Given the description of an element on the screen output the (x, y) to click on. 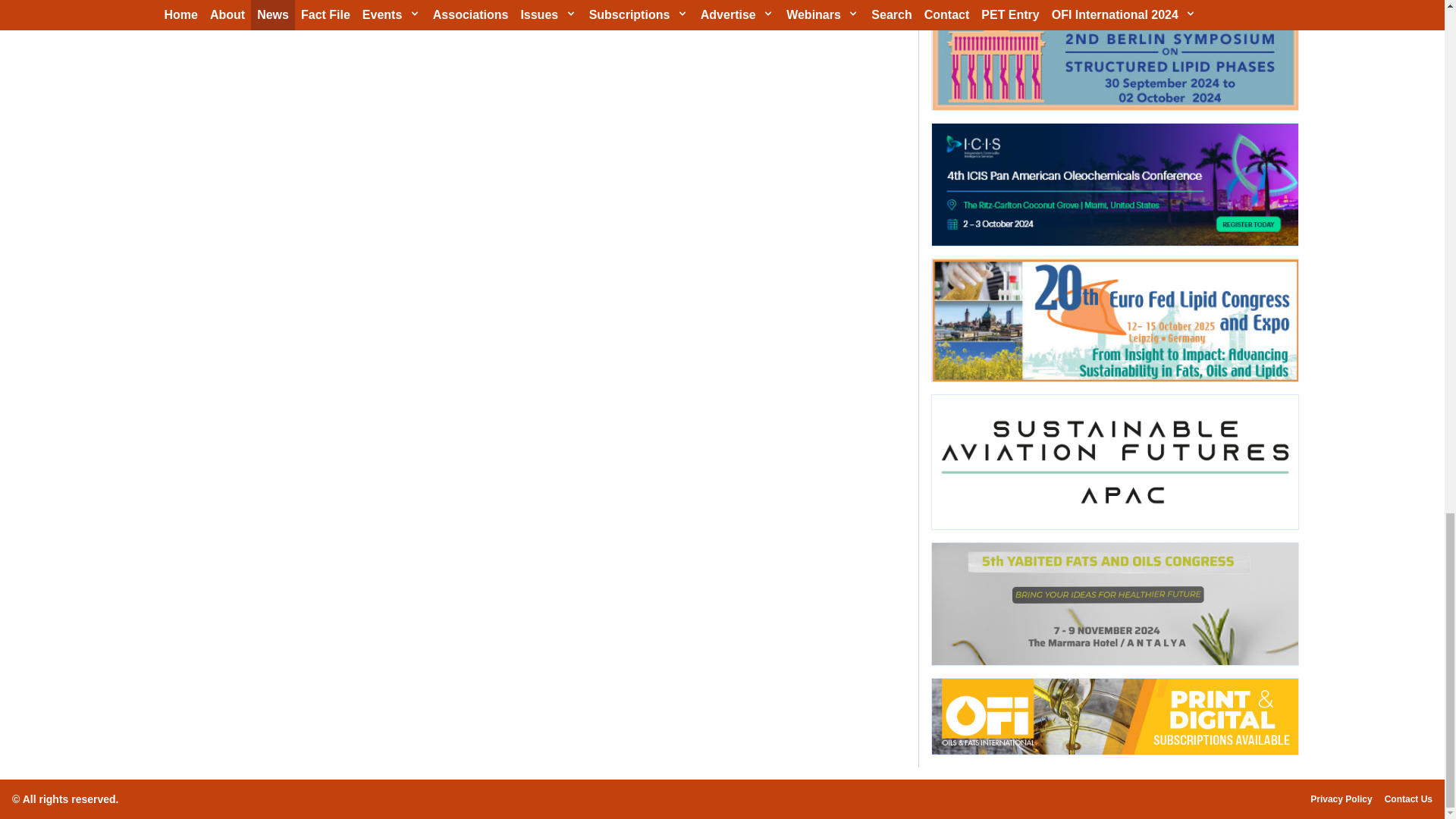
Euro Fed Lipid 2025 (1114, 320)
ICIS Pan American Oleochemicals Conference (1114, 184)
Sustainable Aviation Futures APAC Congress (1114, 461)
2nd Berlin Symposium 2024 (1114, 54)
Yabited (1114, 603)
OFI Subs (1114, 716)
